Given the description of an element on the screen output the (x, y) to click on. 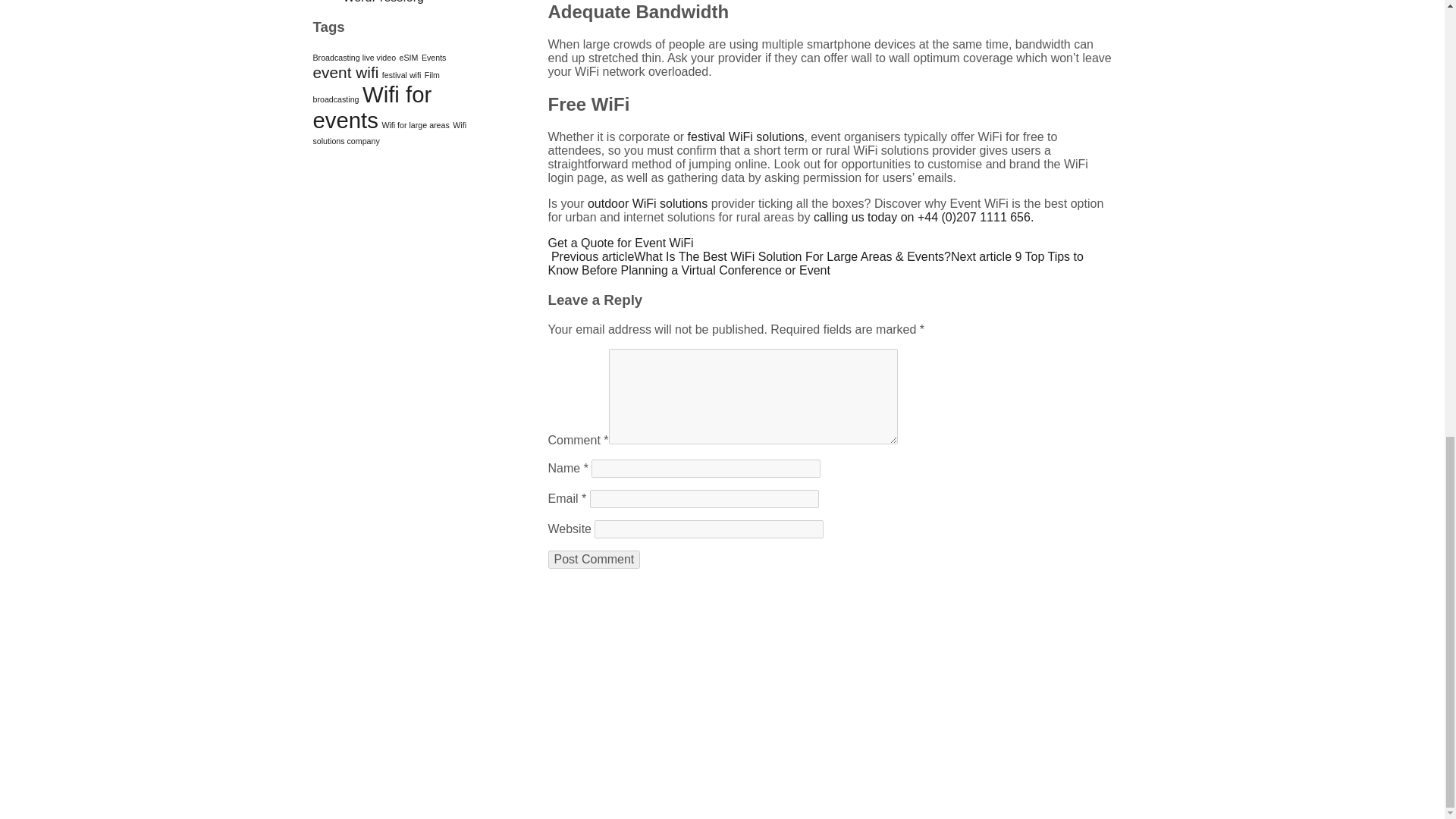
Post Comment (593, 558)
Get a Quote for Event WiFi (620, 242)
Post Comment (593, 558)
festival WiFi solutions (746, 136)
outdoor WiFi solutions (647, 203)
